Given the description of an element on the screen output the (x, y) to click on. 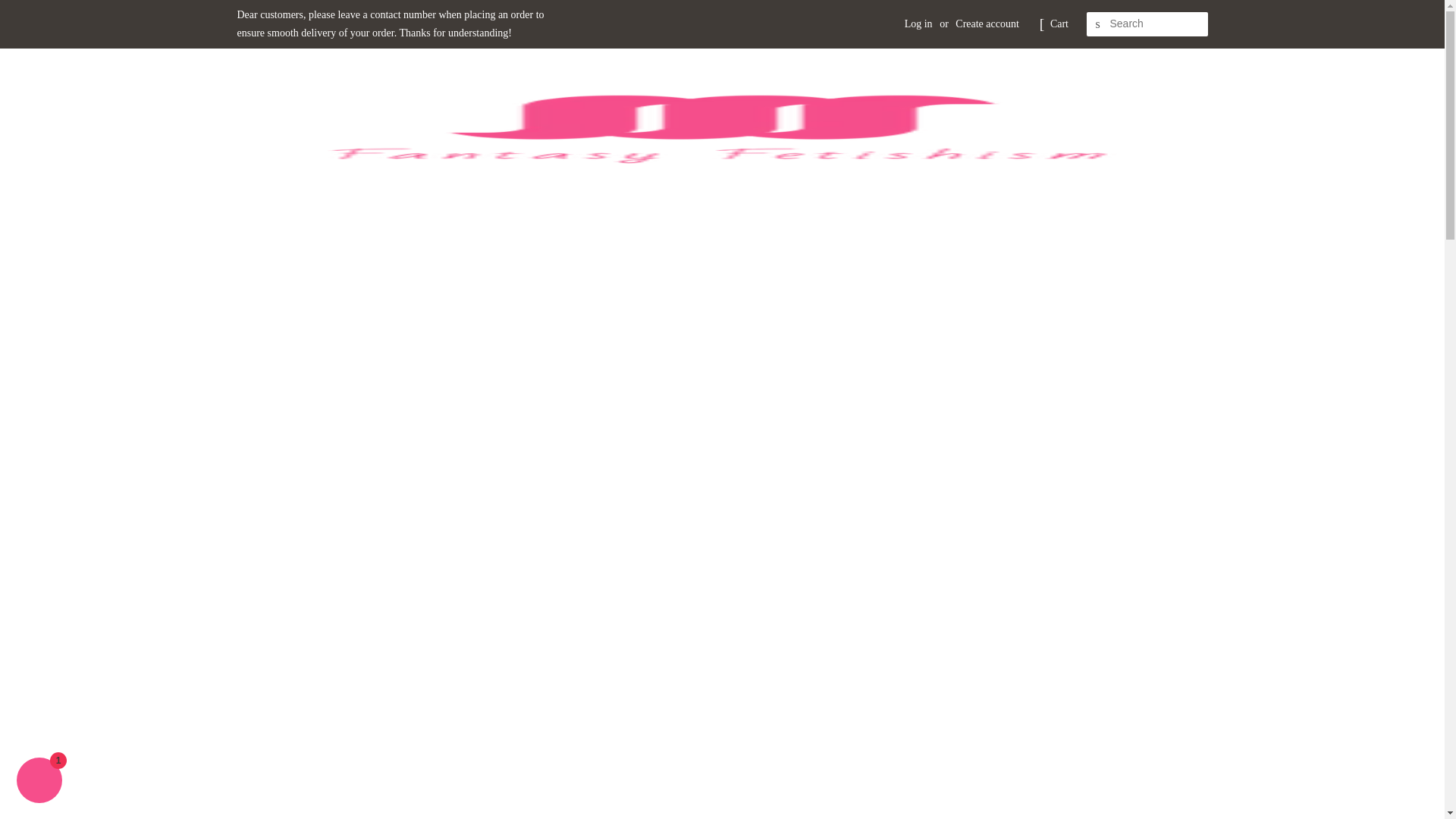
Cart (1058, 24)
Create account (987, 23)
Search (1097, 24)
Shopify online store chat (38, 781)
Log in (918, 23)
